Given the description of an element on the screen output the (x, y) to click on. 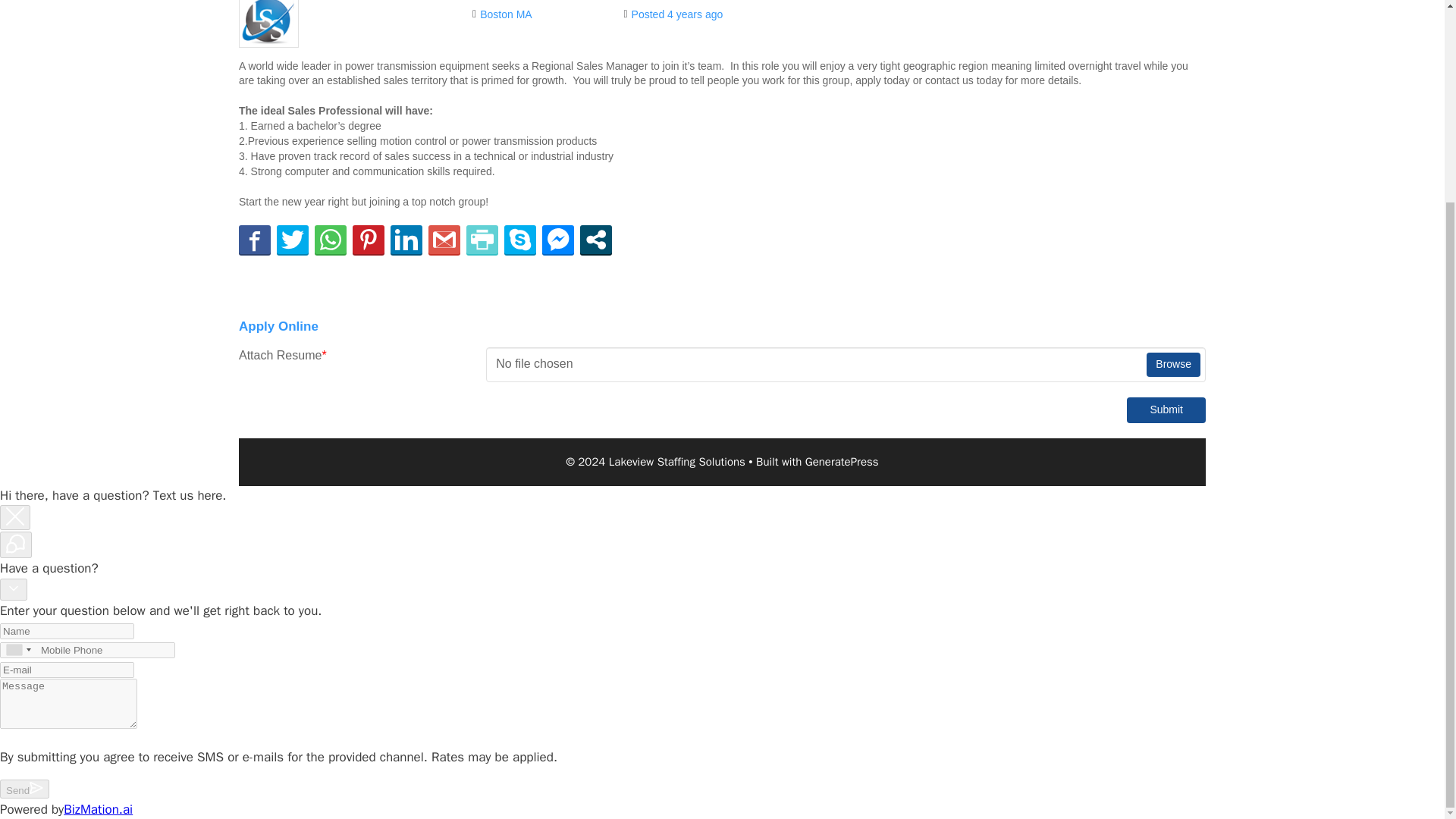
Share on Skype (519, 239)
Send by Gmail (444, 239)
Print via PrintFriendly (481, 239)
Share on WhatsApp (330, 239)
Tweet (292, 239)
Send on Facebook Messenger (557, 239)
Share on Pinterest (368, 239)
Share on Linkedin (406, 239)
GeneratePress (842, 461)
Share on Facebook (254, 239)
Submit (1165, 410)
Open modal social networks (595, 239)
